Given the description of an element on the screen output the (x, y) to click on. 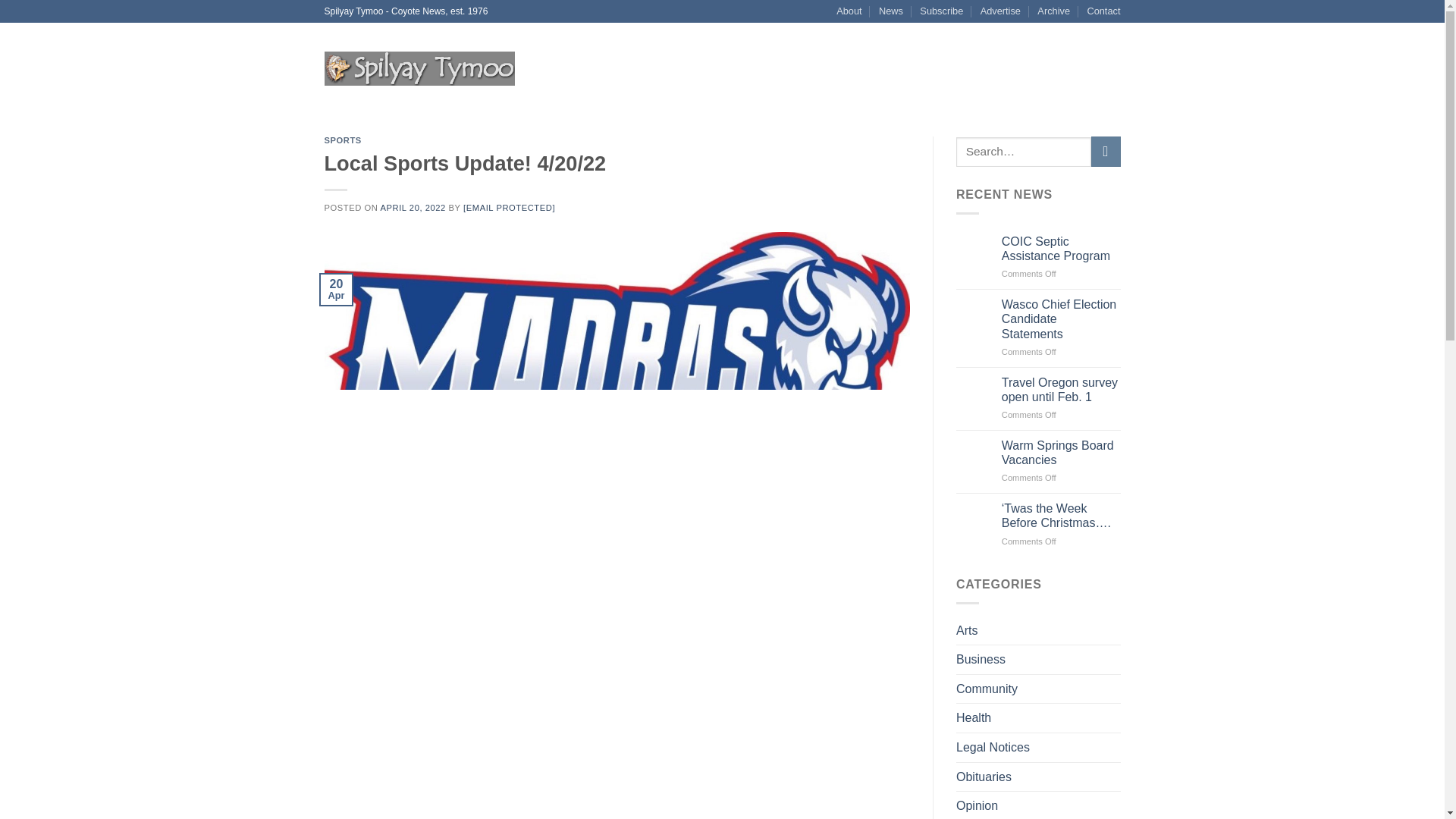
Contact (1102, 11)
HEALTH (913, 68)
About (848, 11)
Wasco Chief Election Candidate Statements (1061, 319)
APRIL 20, 2022 (412, 207)
ARTS (957, 68)
Wasco Chief Election Candidate Statements (1061, 319)
COIC Septic Assistance Program (1061, 248)
Travel Oregon survey open until Feb. 1 (1061, 389)
Travel Oregon survey open until Feb. 1 (1061, 389)
